Given the description of an element on the screen output the (x, y) to click on. 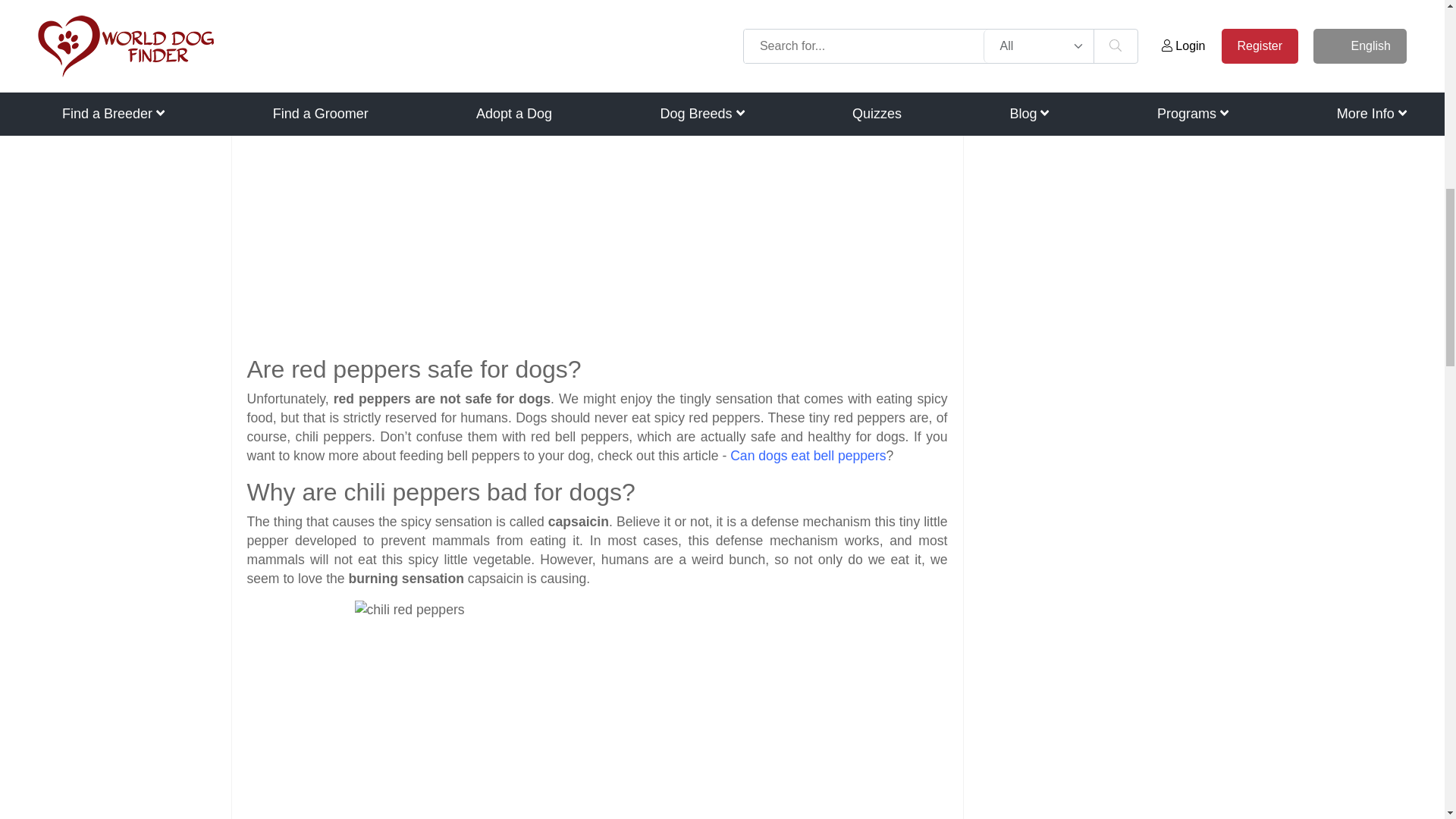
Can dogs eat bell peppers (807, 455)
